Given the description of an element on the screen output the (x, y) to click on. 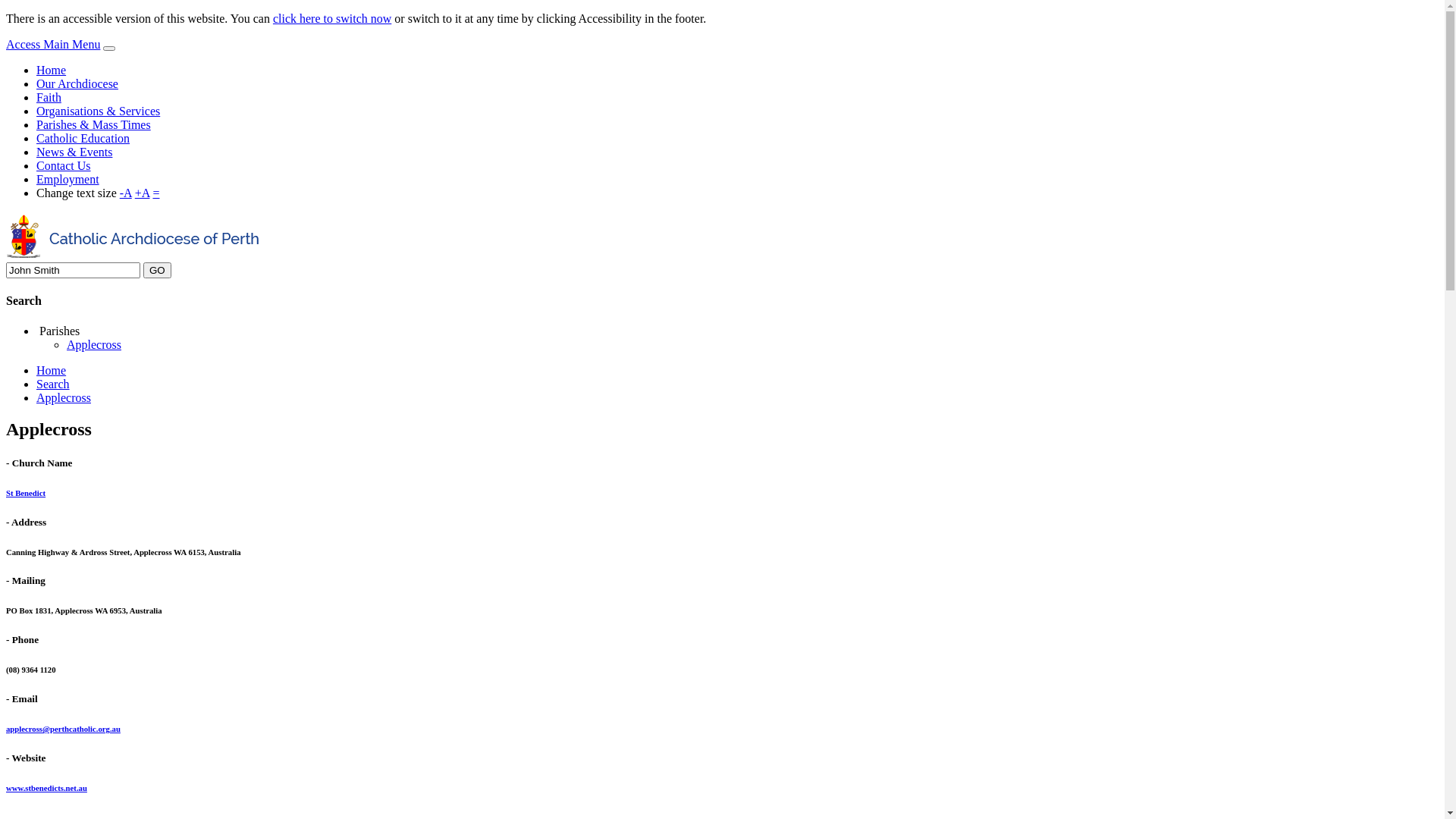
Home Element type: text (50, 370)
Home Element type: text (50, 69)
Organisations & Services Element type: text (98, 110)
GO Element type: text (157, 270)
Access Main Menu Element type: text (53, 43)
 Parishes Element type: text (57, 330)
News & Events Element type: text (74, 151)
Search Element type: text (52, 383)
Faith Element type: text (48, 97)
applecross@perthcatholic.org.au Element type: text (63, 728)
-A Element type: text (125, 192)
St Benedict Element type: text (25, 492)
click here to switch now Element type: text (332, 18)
www.stbenedicts.net.au Element type: text (46, 787)
Catholic Education Element type: text (82, 137)
Applecross Element type: text (63, 397)
= Element type: text (155, 192)
Applecross Element type: text (93, 344)
Employment Element type: text (67, 178)
Contact Us Element type: text (63, 165)
Our Archdiocese Element type: text (77, 83)
Parishes & Mass Times Element type: text (93, 124)
+A Element type: text (142, 192)
